Given the description of an element on the screen output the (x, y) to click on. 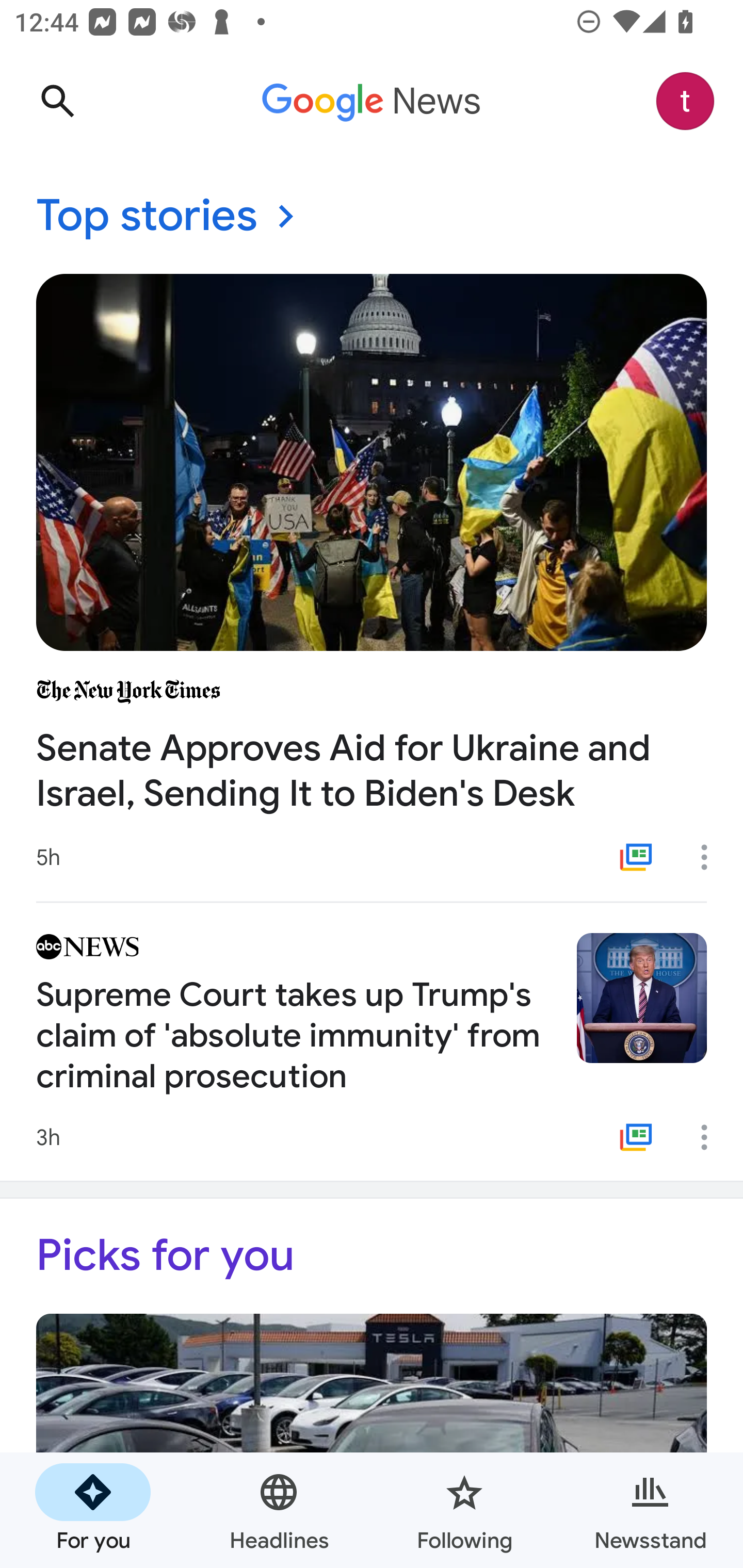
Search (57, 100)
Top stories (371, 216)
More options (711, 856)
More options (711, 1137)
For you (92, 1509)
Headlines (278, 1509)
Following (464, 1509)
Newsstand (650, 1509)
